Given the description of an element on the screen output the (x, y) to click on. 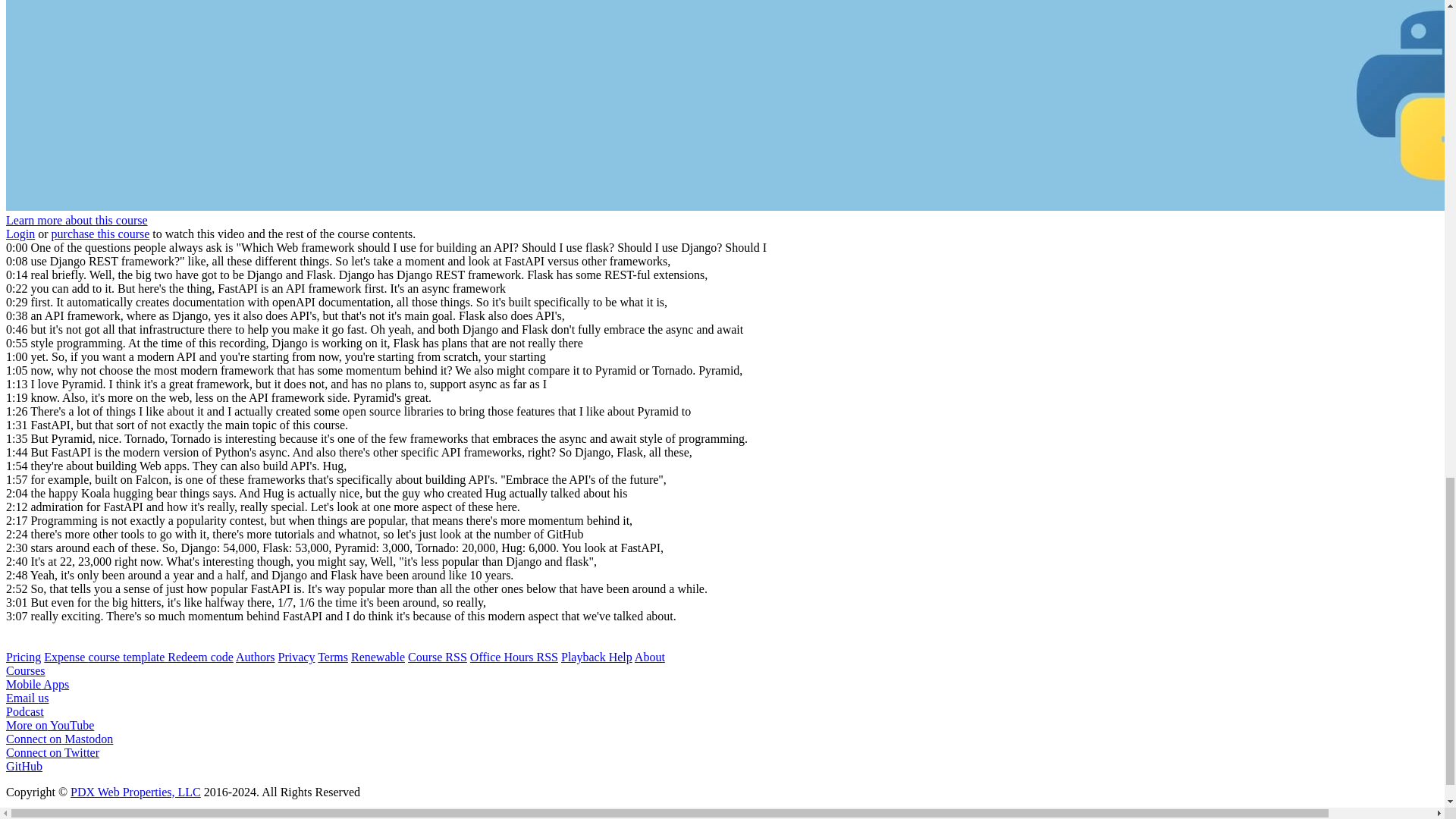
Authors (255, 656)
Pricing (22, 656)
Follow us on Mastodon (721, 745)
purchase this course (99, 233)
Course RSS (437, 656)
Expense course template (105, 656)
Email us (721, 704)
Follow us on Twitter (721, 759)
Mobile Apps (721, 691)
Renewable (377, 656)
Learn more about this course (76, 219)
Privacy (296, 656)
